Given the description of an element on the screen output the (x, y) to click on. 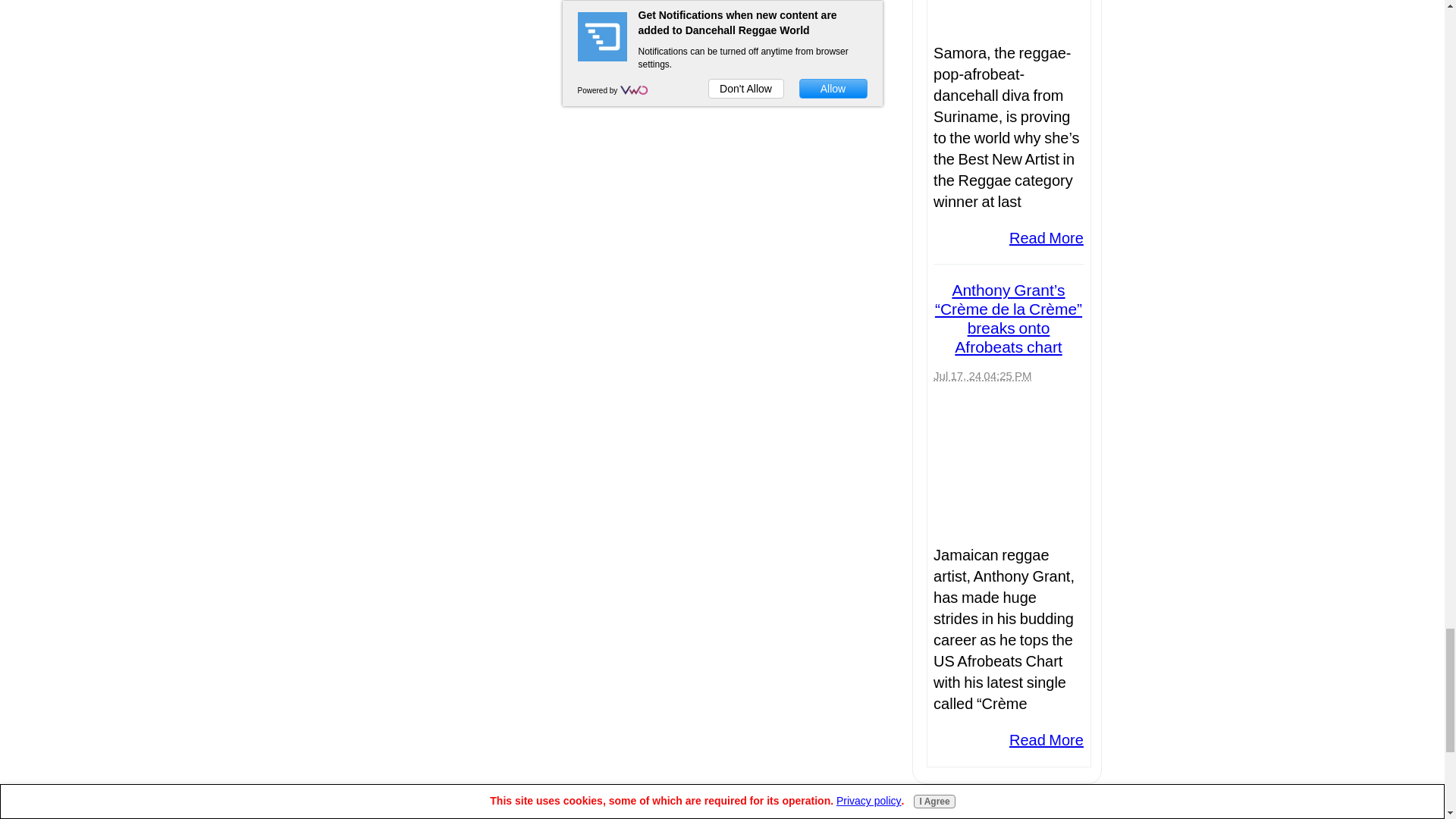
2024-07-17T16:25:32-0400 (981, 375)
